Given the description of an element on the screen output the (x, y) to click on. 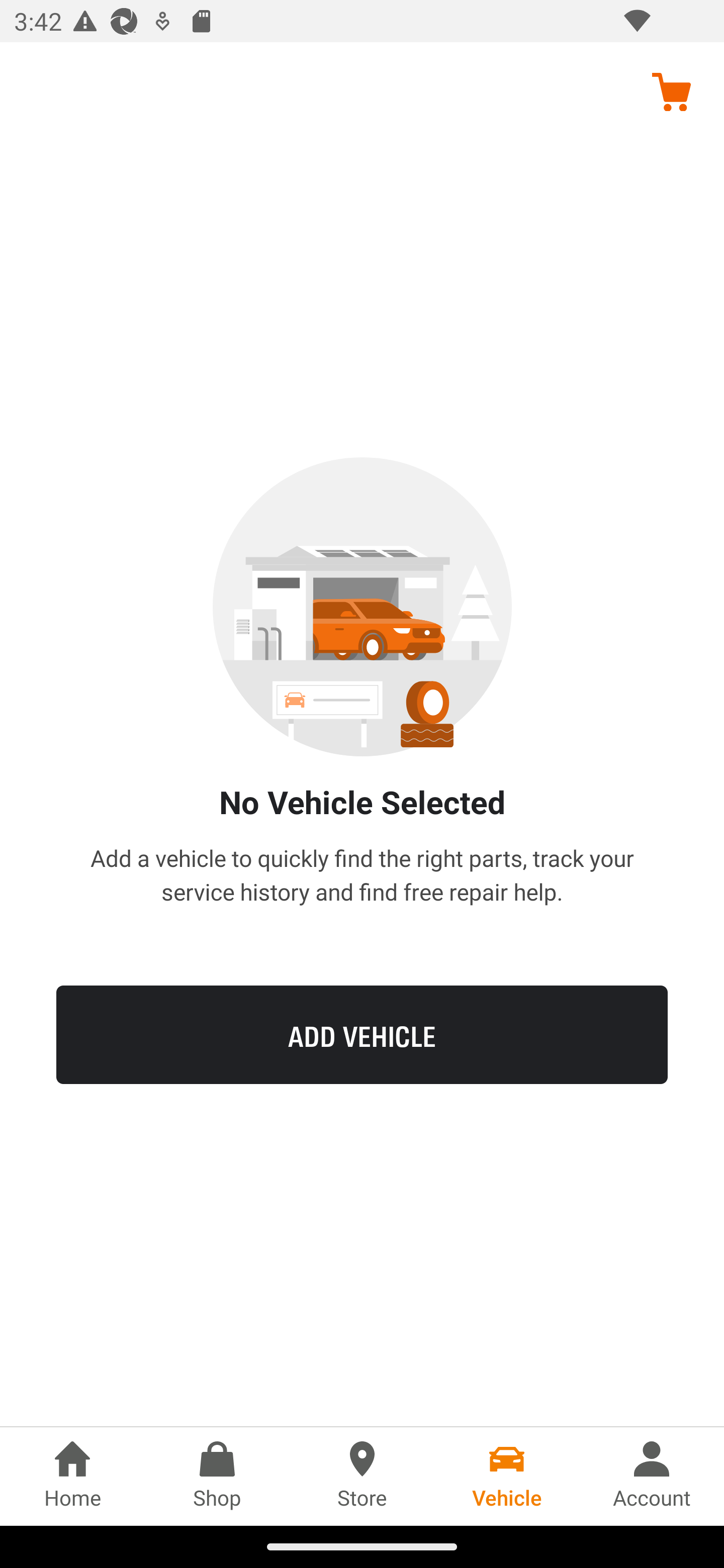
Cart, no items  (670, 91)
ADD VEHICLE (361, 1034)
Home (72, 1475)
Shop (216, 1475)
Store (361, 1475)
Vehicle (506, 1475)
Account (651, 1475)
